Given the description of an element on the screen output the (x, y) to click on. 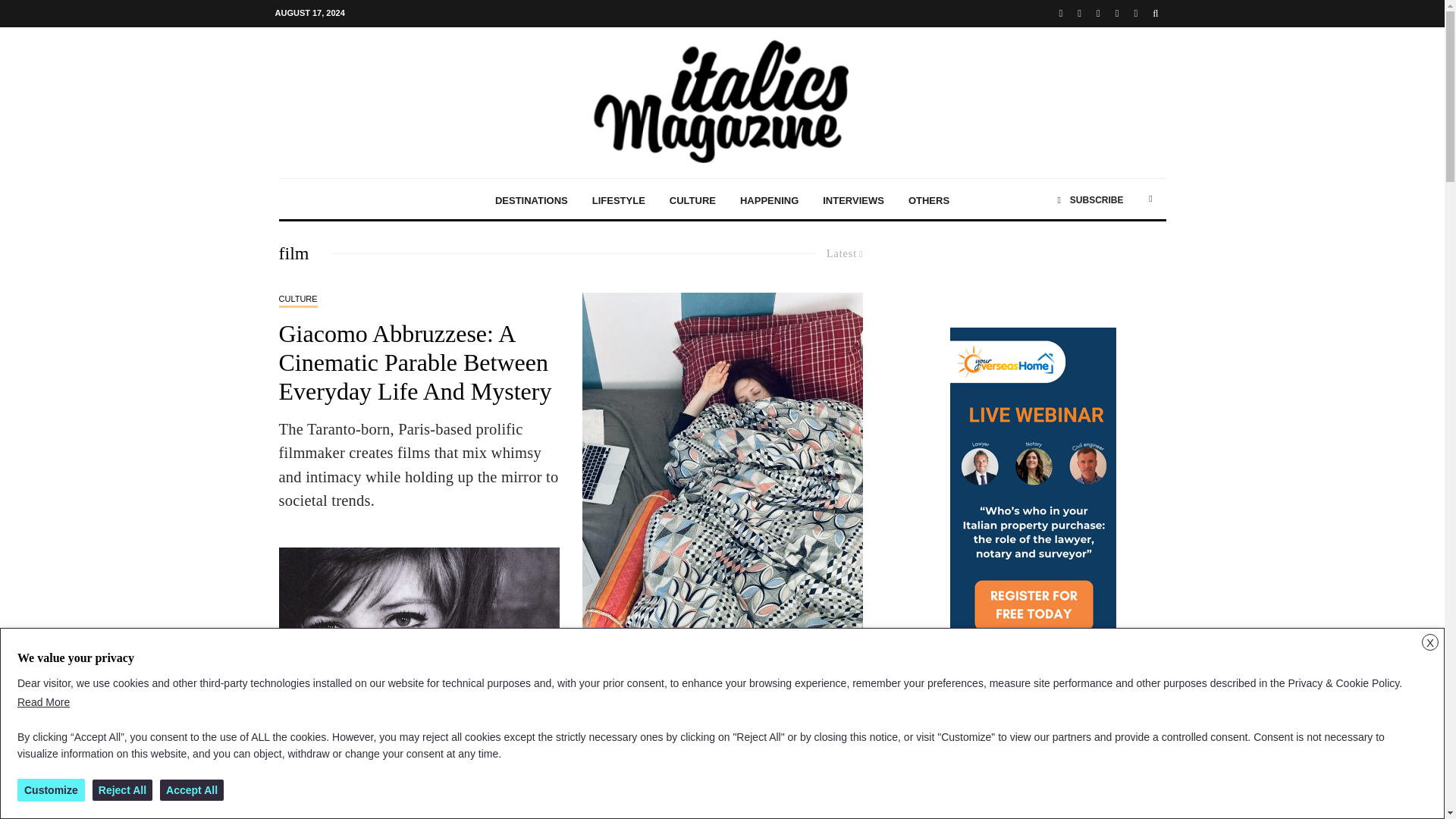
LIFESTYLE (618, 199)
CULTURE (693, 199)
DESTINATIONS (531, 199)
HAPPENING (769, 199)
Close (1430, 641)
